Given the description of an element on the screen output the (x, y) to click on. 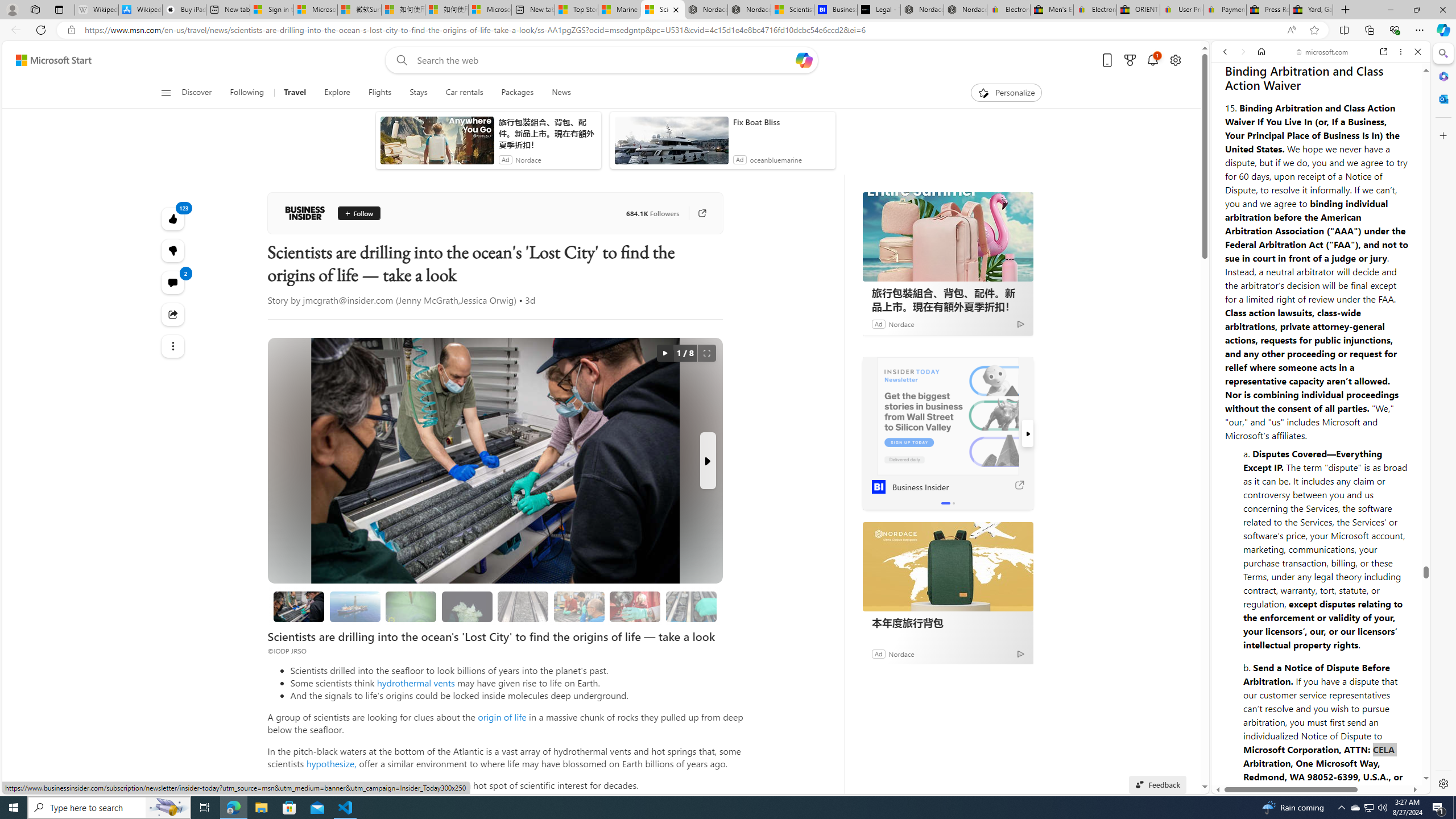
Car rentals (464, 92)
autorotate button (664, 352)
Marine life - MSN (619, 9)
Packages (517, 92)
The Lost City could hold clues to the origin of life. (466, 606)
Explore (337, 92)
